Given the description of an element on the screen output the (x, y) to click on. 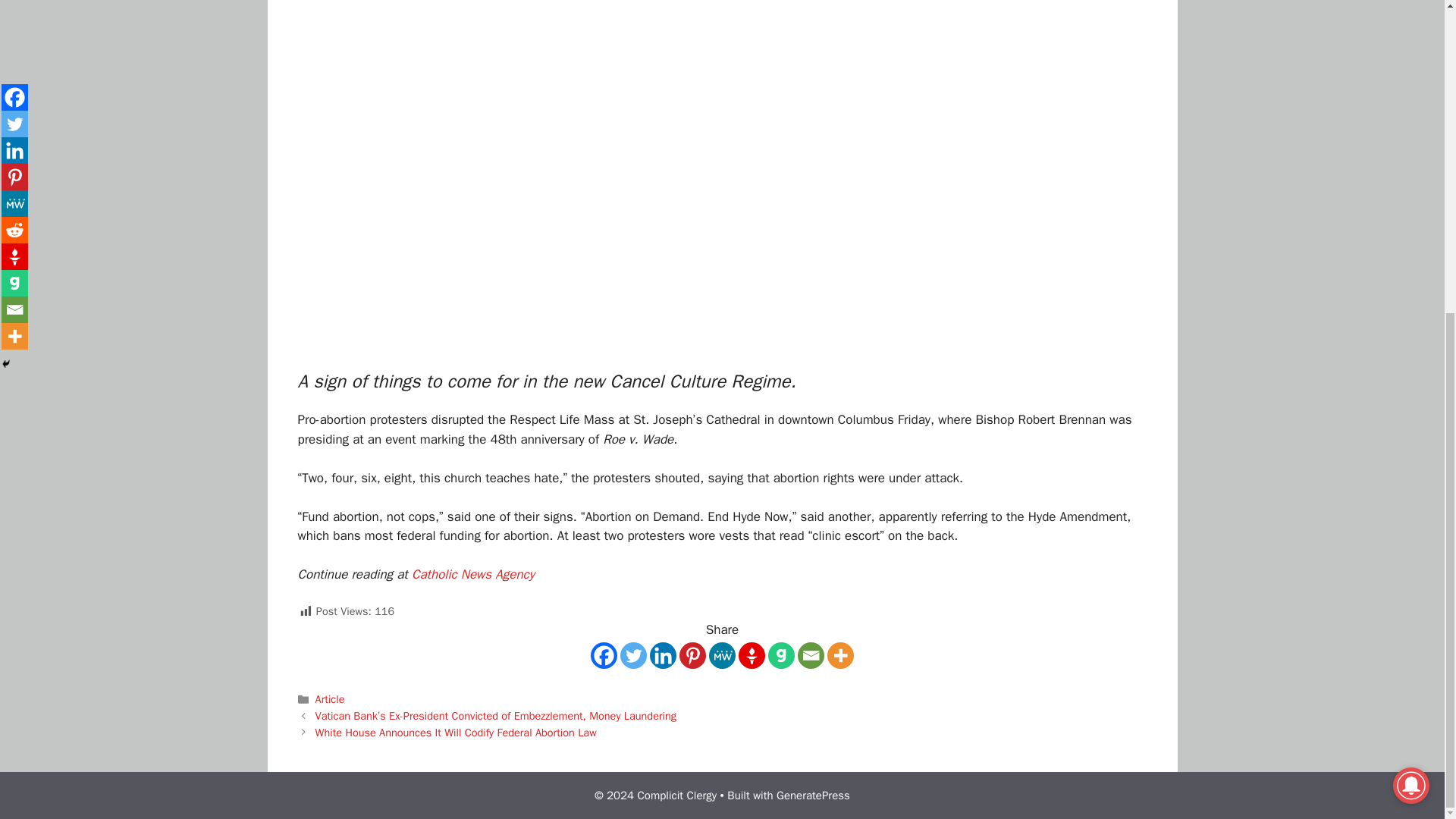
Catholic News Agency (473, 574)
Facebook (604, 655)
Gettr (751, 655)
Linkedin (663, 655)
More (840, 655)
Email (810, 655)
Pinterest (692, 655)
MeWe (722, 655)
Gab (781, 655)
Twitter (633, 655)
